Given the description of an element on the screen output the (x, y) to click on. 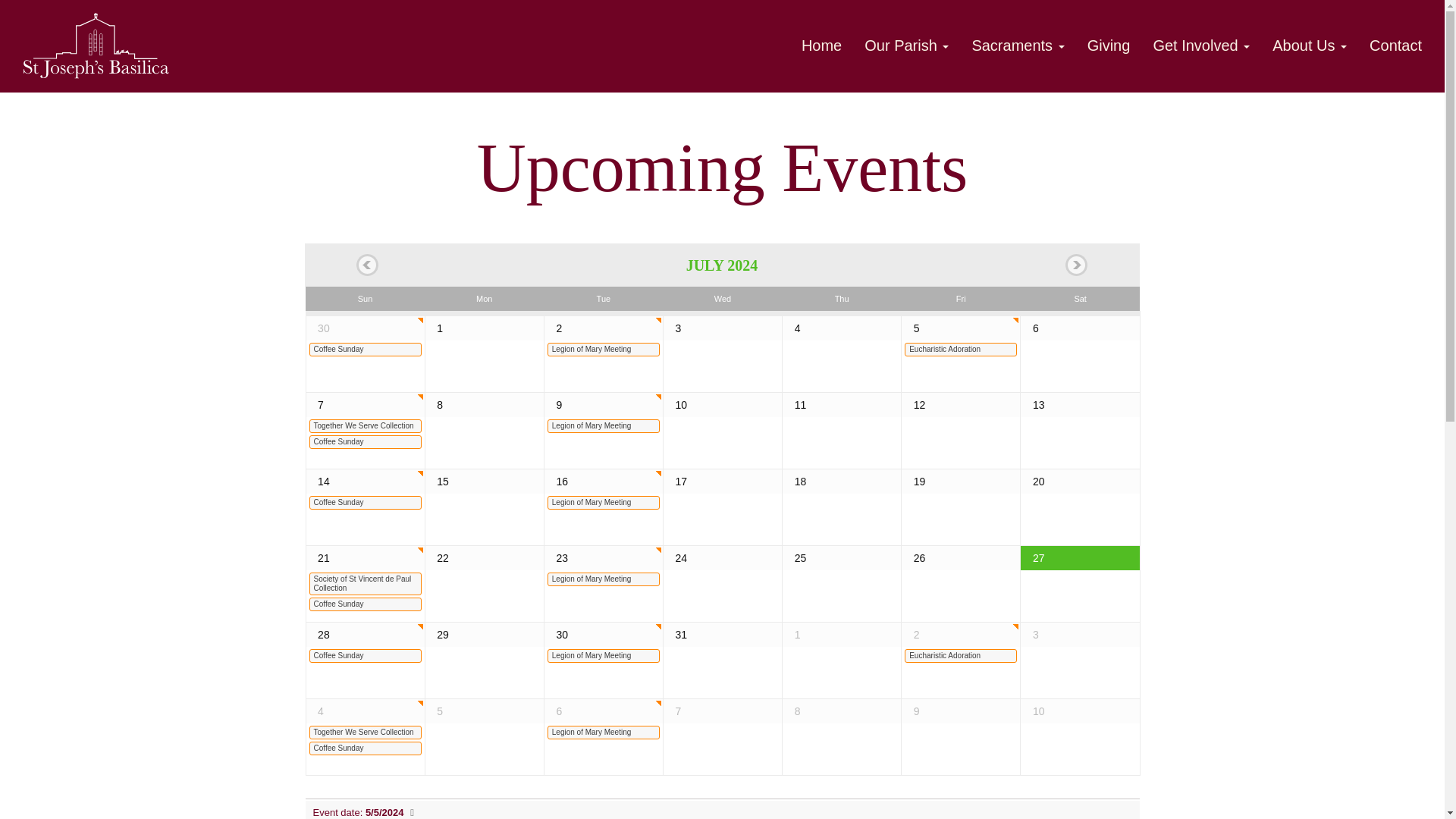
Get Involved (1200, 46)
Home (821, 46)
Sacraments (1017, 46)
Our Parish (906, 46)
St. Joseph's Basilica (94, 44)
About Us (1309, 46)
Giving (1108, 46)
